Given the description of an element on the screen output the (x, y) to click on. 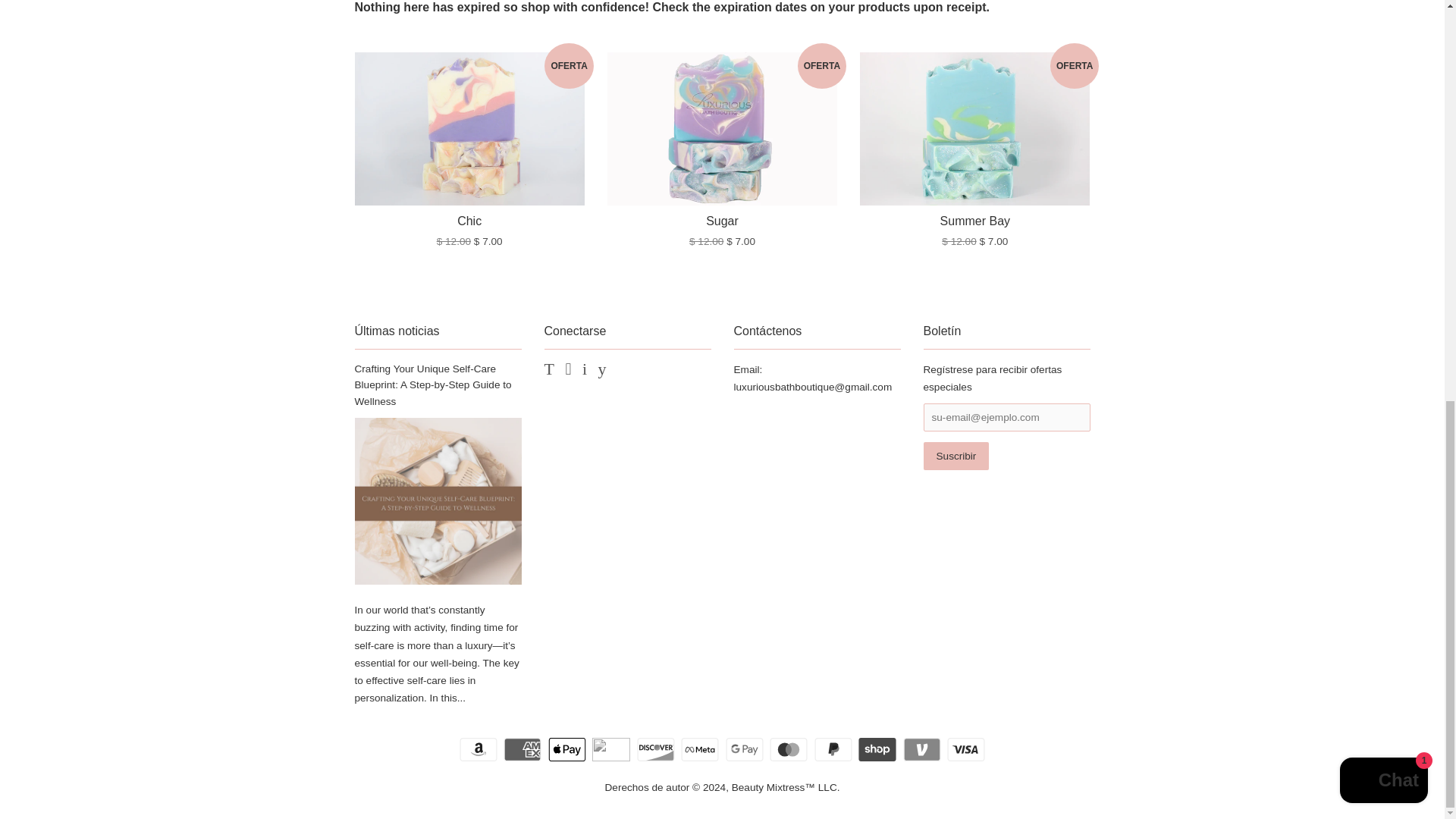
Chat de la tienda online Shopify (1383, 10)
Suscribir (956, 456)
